Given the description of an element on the screen output the (x, y) to click on. 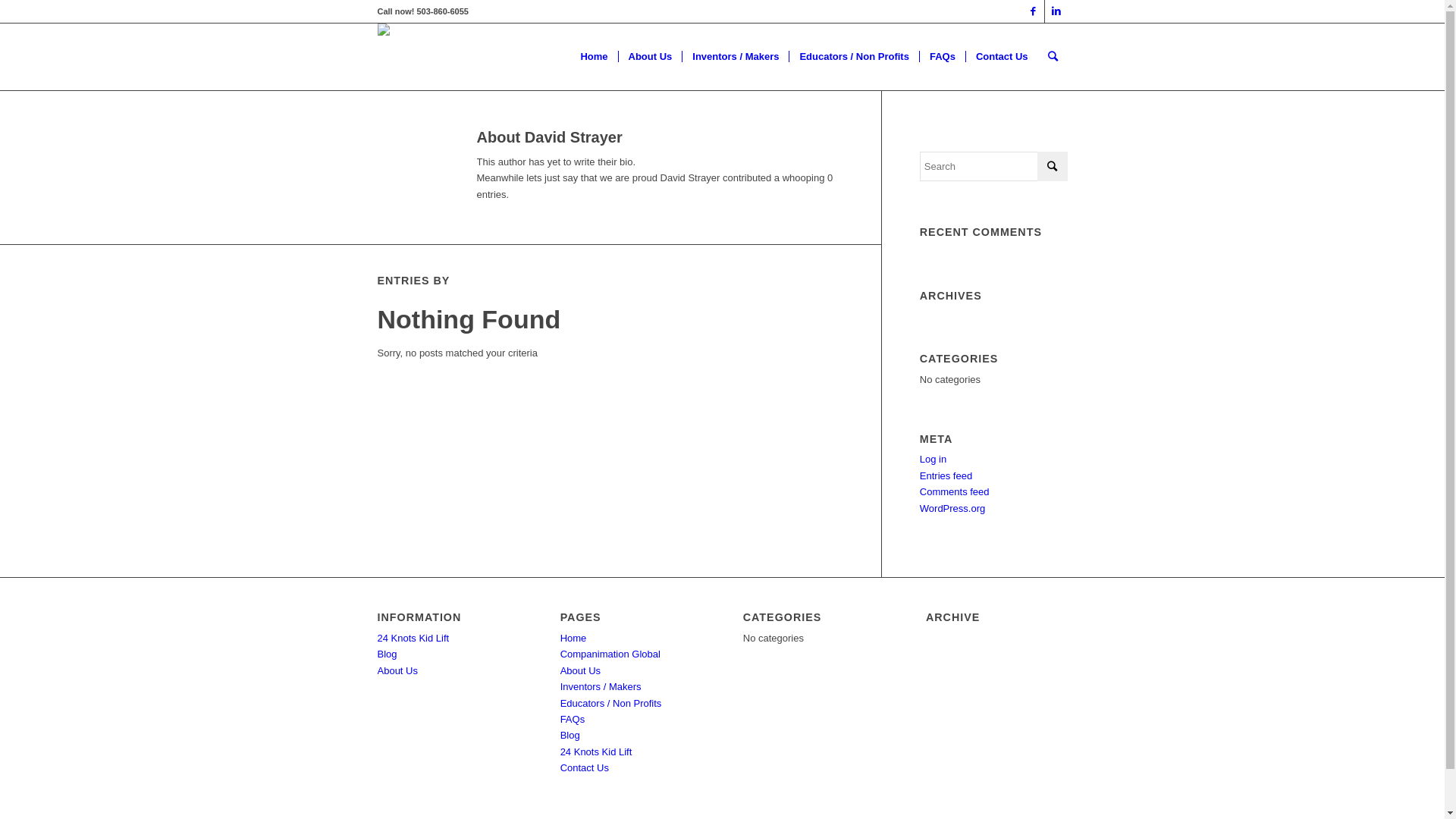
Blog Element type: text (570, 734)
Blog Element type: text (387, 653)
24 Knots Kid Lift Element type: text (596, 751)
Inventors / Makers Element type: text (734, 56)
WordPress.org Element type: text (952, 508)
About Us Element type: text (397, 670)
Educators / Non Profits Element type: text (611, 703)
LinkedIn Element type: hover (1055, 11)
Contact Us Element type: text (1001, 56)
FAQs Element type: text (942, 56)
Inventors / Makers Element type: text (600, 686)
Comments feed Element type: text (954, 491)
Home Element type: text (593, 56)
24 Knots Kid Lift Element type: text (413, 637)
Log in Element type: text (932, 458)
Entries feed Element type: text (945, 475)
Companimation Global Element type: text (610, 653)
FAQs Element type: text (572, 718)
Educators / Non Profits Element type: text (853, 56)
About Us Element type: text (580, 670)
About Us Element type: text (649, 56)
Facebook Element type: hover (1033, 11)
Home Element type: text (573, 637)
Contact Us Element type: text (584, 767)
